Given the description of an element on the screen output the (x, y) to click on. 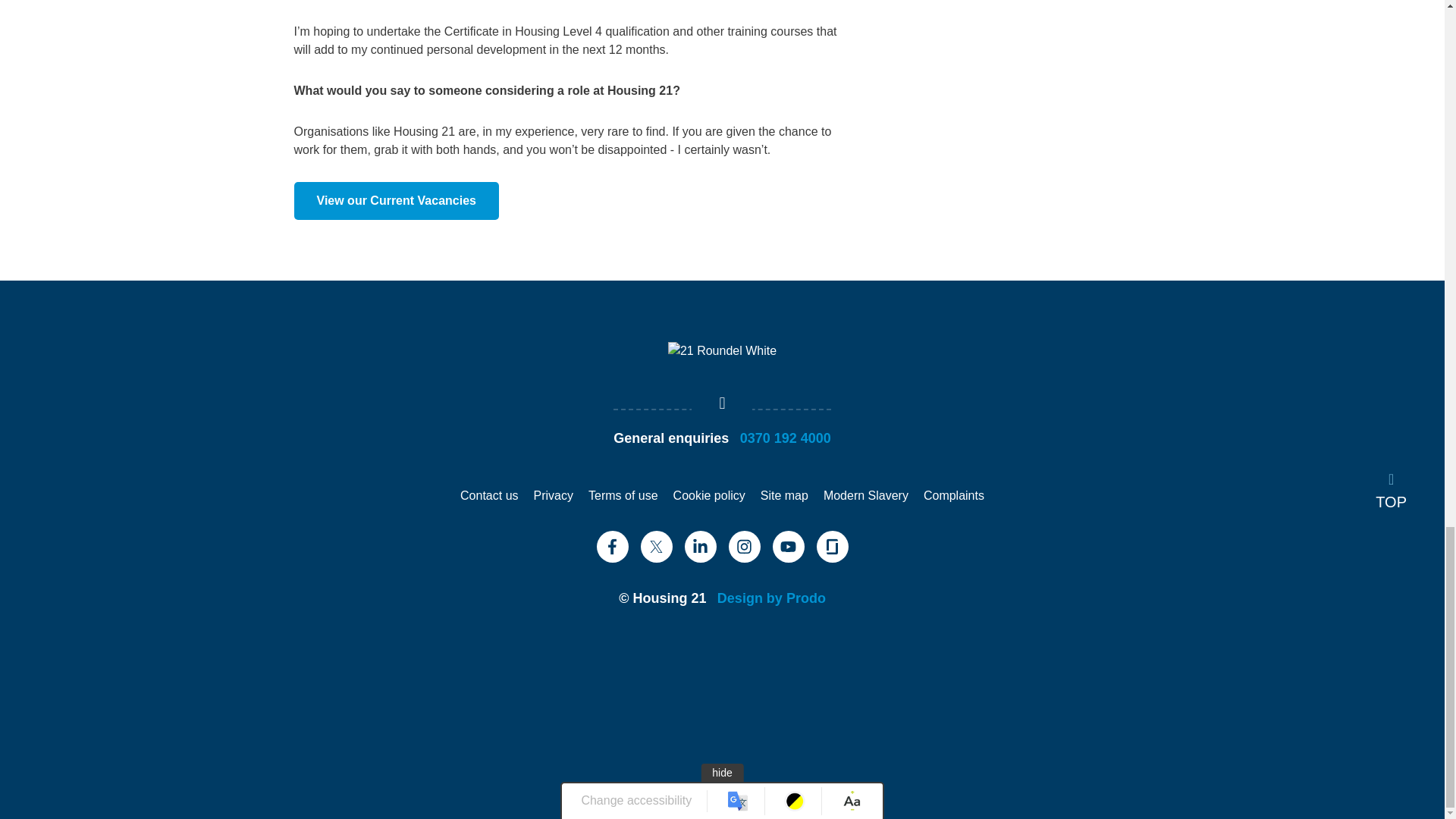
Jobs at Housing 21 (396, 200)
Twitter (655, 546)
Cookie policy (708, 495)
Contact us (489, 495)
Facebook (611, 546)
Site map (784, 495)
LinkedIn (700, 546)
Modern Slavery (866, 495)
Terms of use (623, 495)
Complaints (953, 495)
